Given the description of an element on the screen output the (x, y) to click on. 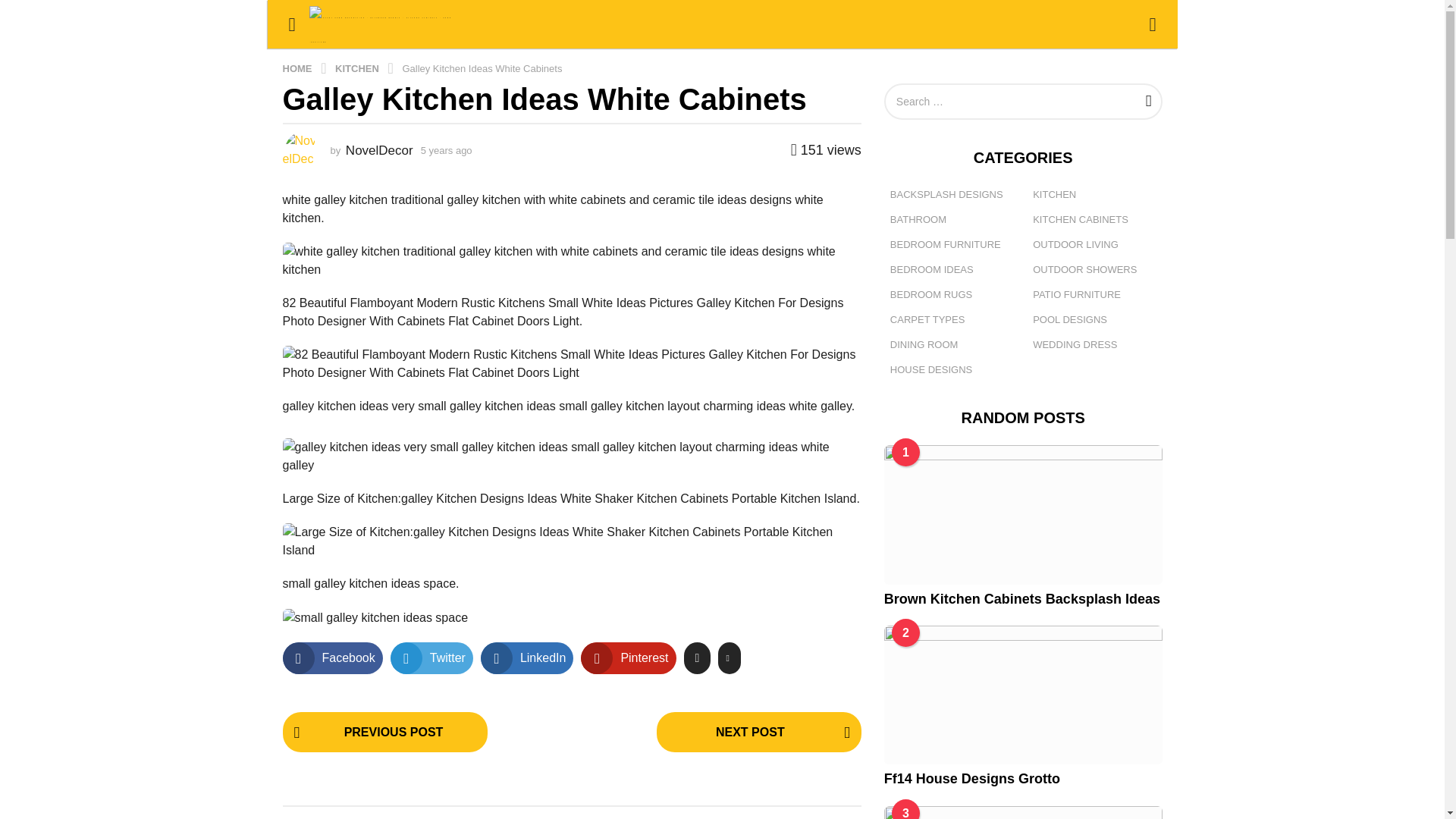
Sims 1 House Design (1022, 812)
Ff14 House Designs Grotto (1022, 694)
Brown Kitchen Cabinets Backsplash Ideas (1022, 514)
